Given the description of an element on the screen output the (x, y) to click on. 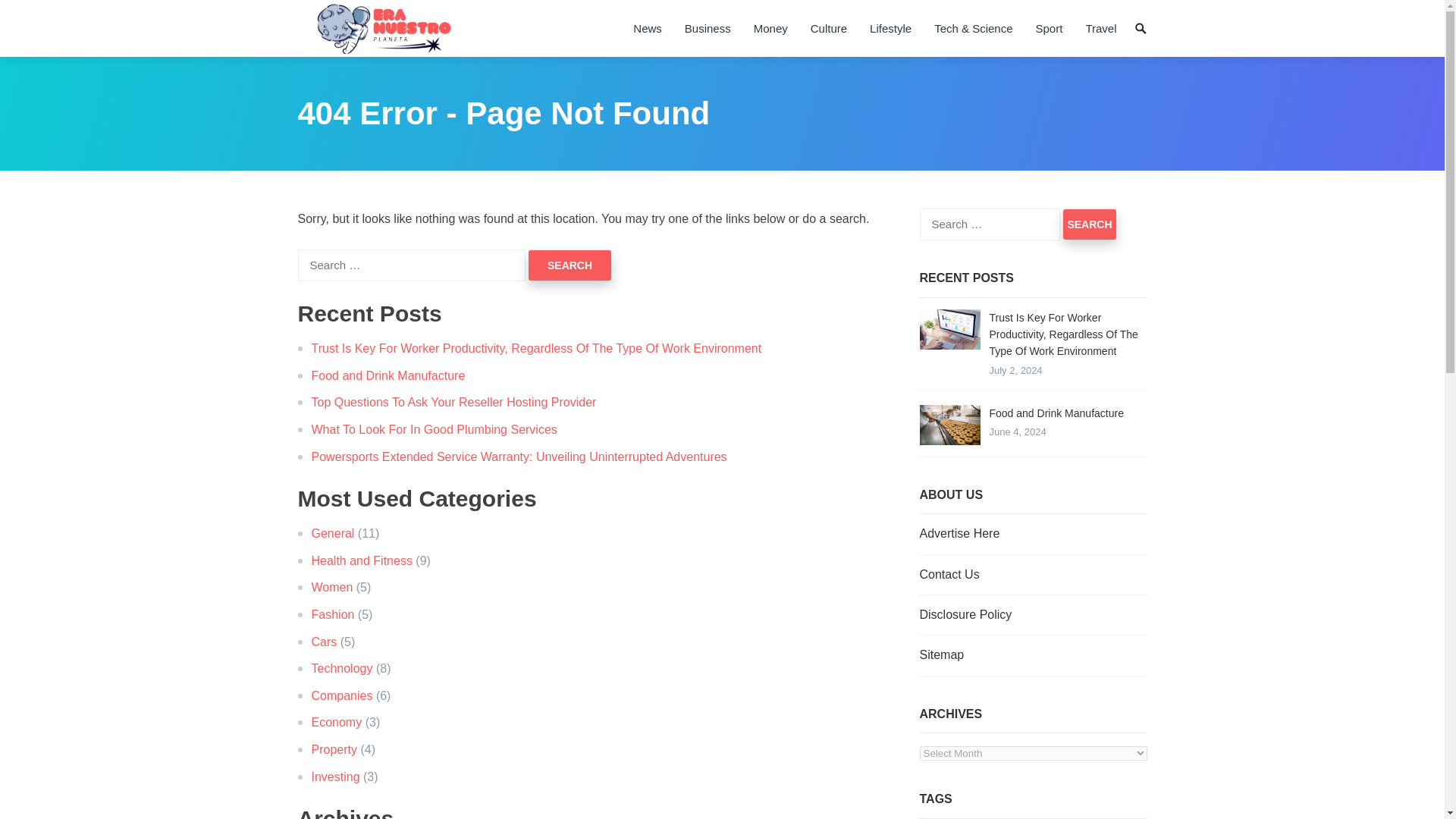
Search (1089, 224)
Business (707, 28)
Culture (829, 28)
Lifestyle (891, 28)
Search (569, 265)
Search (569, 265)
Search (1089, 224)
Food and Drink Manufacture (948, 424)
News (646, 28)
Money (770, 28)
